Given the description of an element on the screen output the (x, y) to click on. 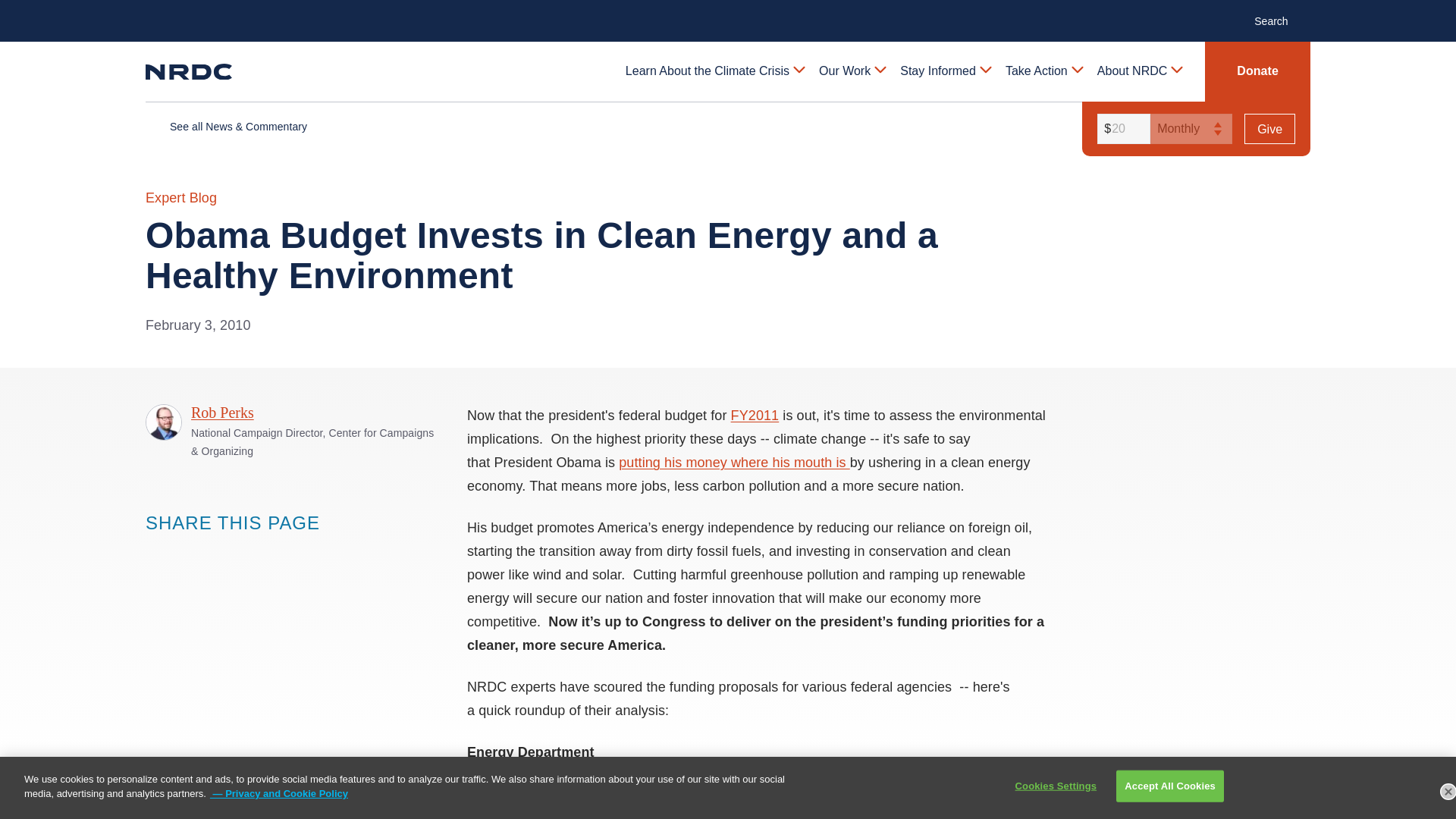
Share this page block (156, 551)
Learn About the Climate Crisis (714, 71)
Our Work (850, 71)
Stay Informed (944, 71)
Skip to main content (727, 12)
Search (1278, 19)
20 (1120, 128)
Share this page block (216, 551)
Share this page block (186, 551)
